Given the description of an element on the screen output the (x, y) to click on. 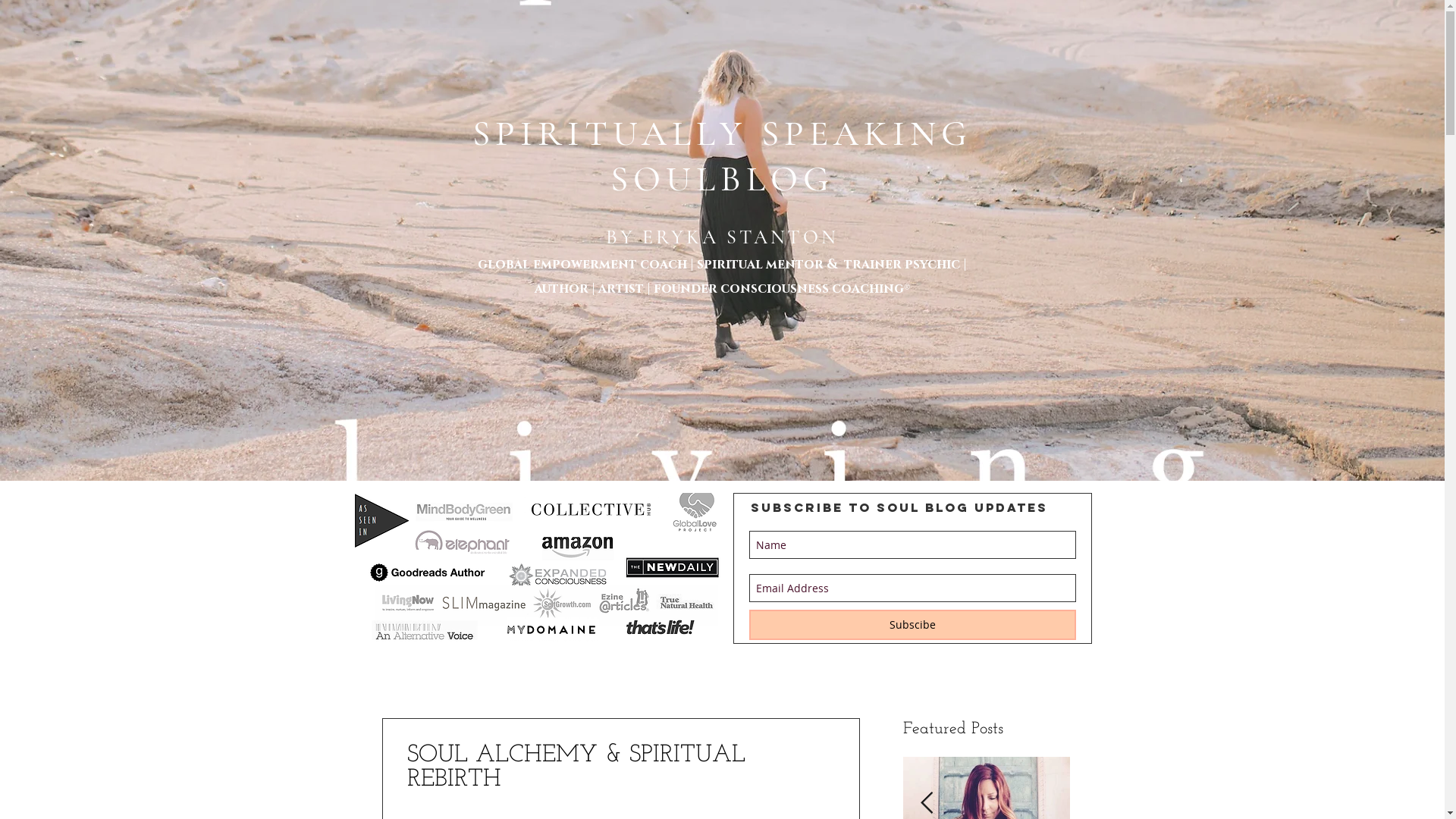
PSYCHIC DEVELPMENT COURSE Element type: text (1006, 75)
ABOUT COACHING Element type: text (462, 75)
TRAIN WITH ME TO BECOME A COACH Element type: text (814, 13)
BOOK HERE Element type: text (1012, 13)
Subscibe Element type: text (912, 624)
SERVICES Element type: text (628, 75)
SOUL ART Element type: text (659, 13)
PRAISE Element type: text (865, 75)
ABOUT ERYKA STANTON Element type: text (791, 75)
HOME Element type: text (398, 75)
SOULBLOG Element type: text (916, 75)
SOULBOSS COACHING Element type: text (553, 75)
PSYCHIC READINGS Element type: text (697, 75)
